Given the description of an element on the screen output the (x, y) to click on. 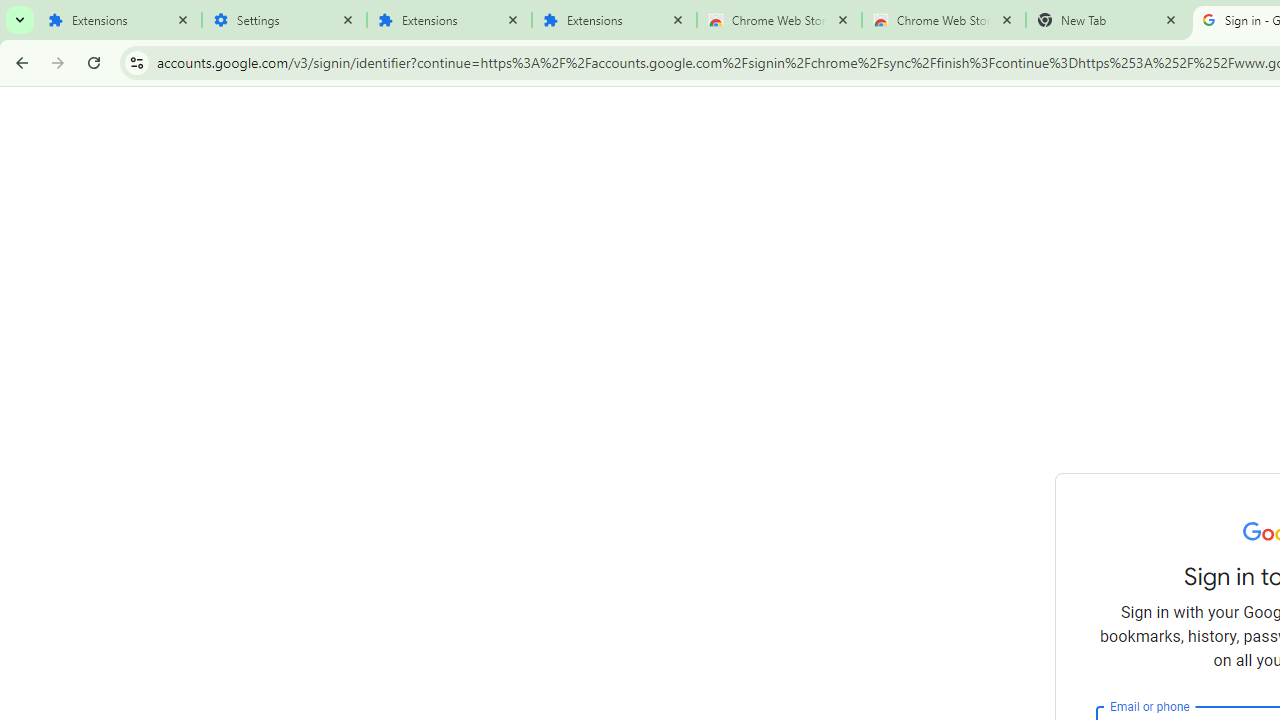
Extensions (449, 20)
New Tab (1108, 20)
Settings (284, 20)
Extensions (119, 20)
Chrome Web Store - Themes (943, 20)
Chrome Web Store (779, 20)
Extensions (614, 20)
